Given the description of an element on the screen output the (x, y) to click on. 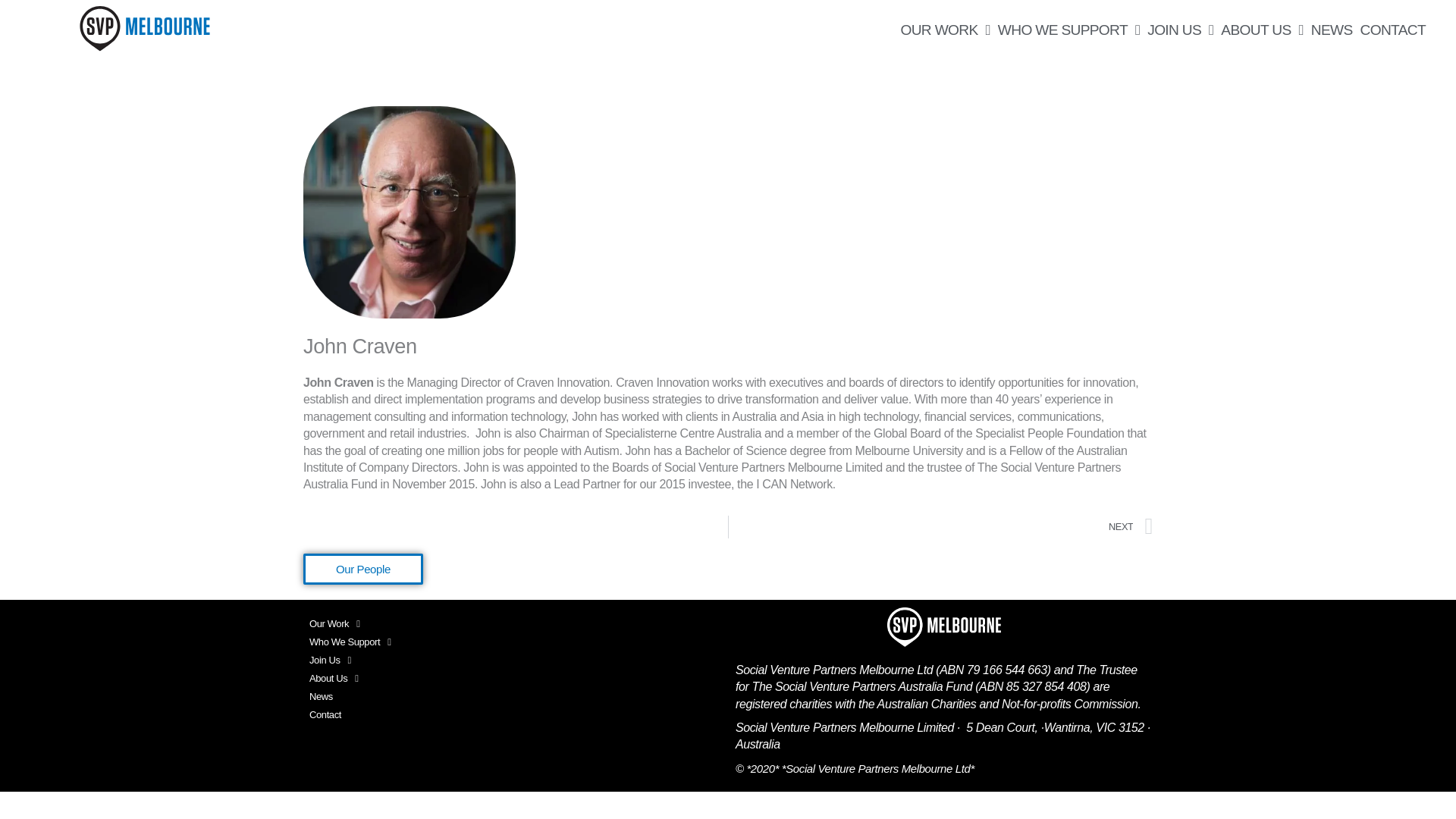
JOIN US (1179, 30)
CONTACT (1392, 30)
ABOUT US (1261, 30)
WHO WE SUPPORT (1068, 30)
NEWS (1331, 30)
OUR WORK (944, 30)
